Given the description of an element on the screen output the (x, y) to click on. 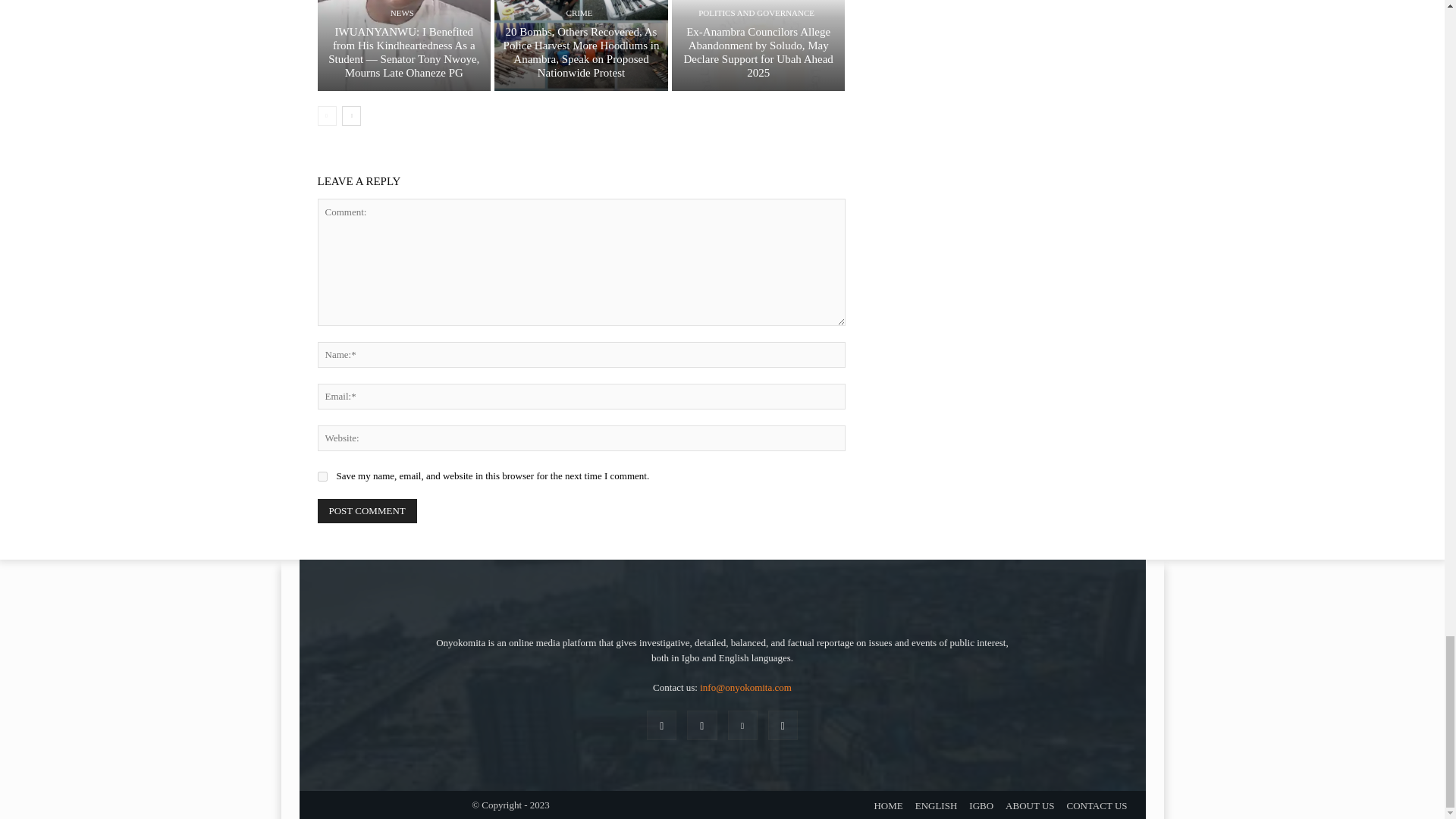
Post Comment (366, 510)
yes (321, 476)
